Given the description of an element on the screen output the (x, y) to click on. 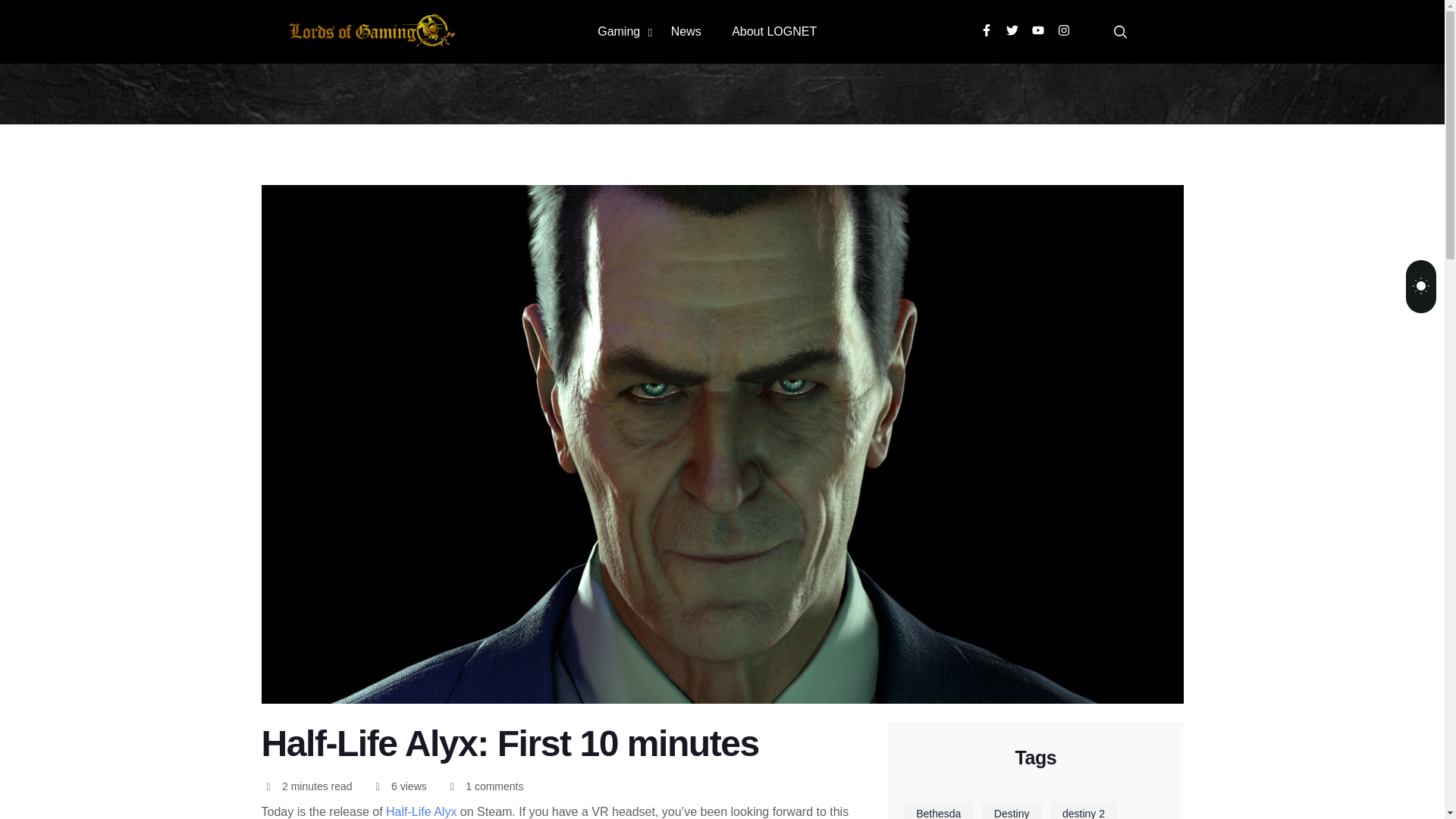
Gaming (624, 31)
